Given the description of an element on the screen output the (x, y) to click on. 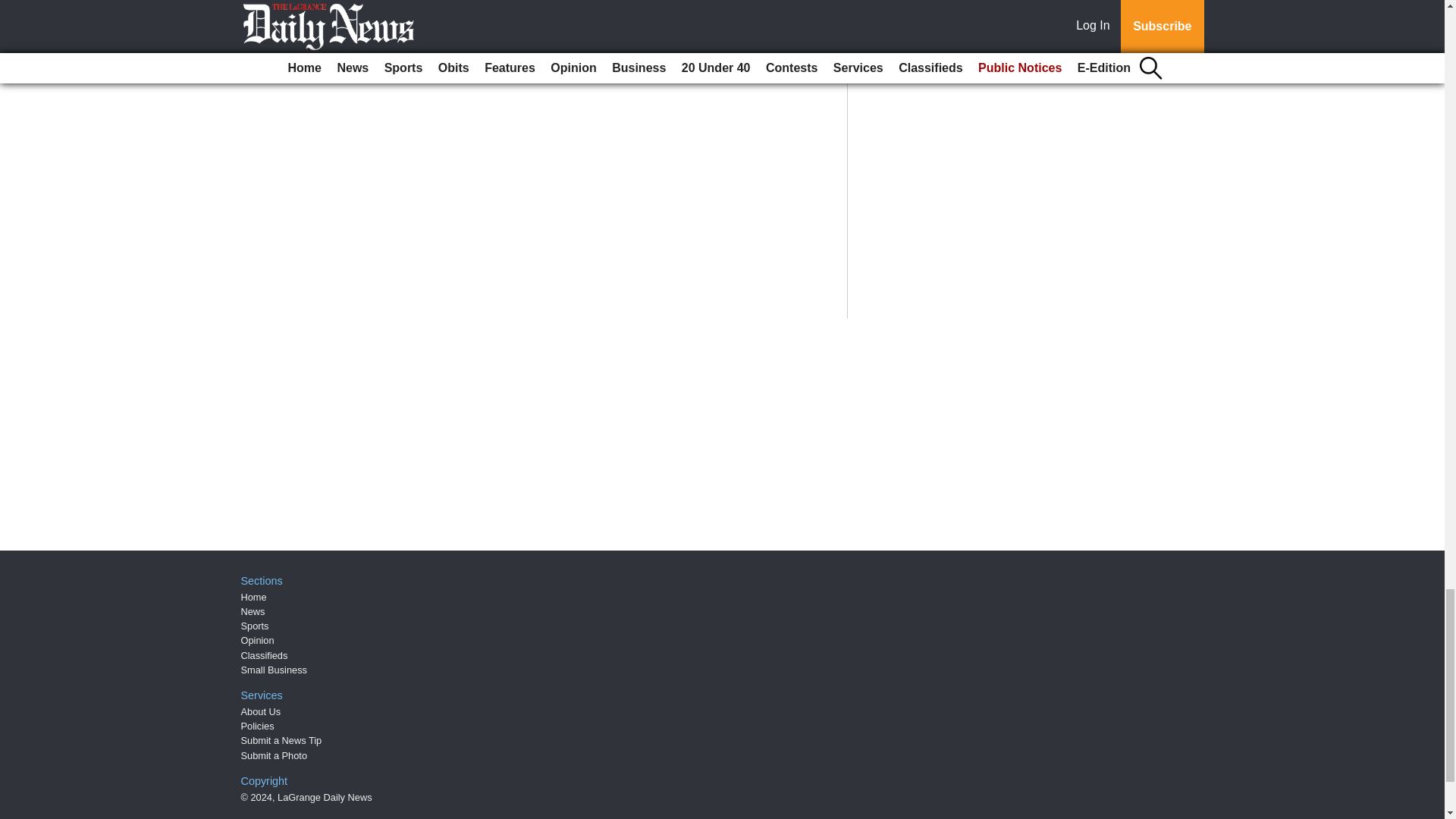
Home (253, 596)
